Given the description of an element on the screen output the (x, y) to click on. 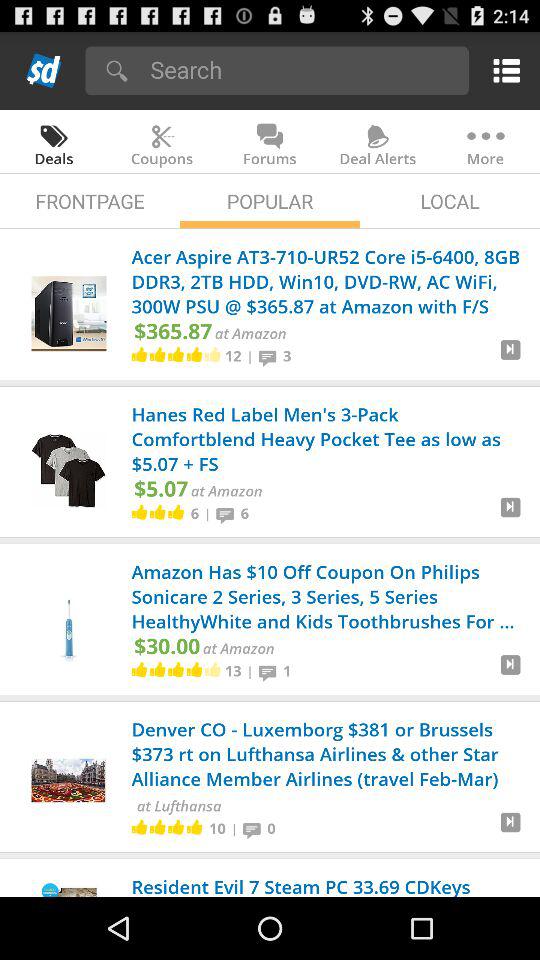
open the item below the at amazon (232, 670)
